Given the description of an element on the screen output the (x, y) to click on. 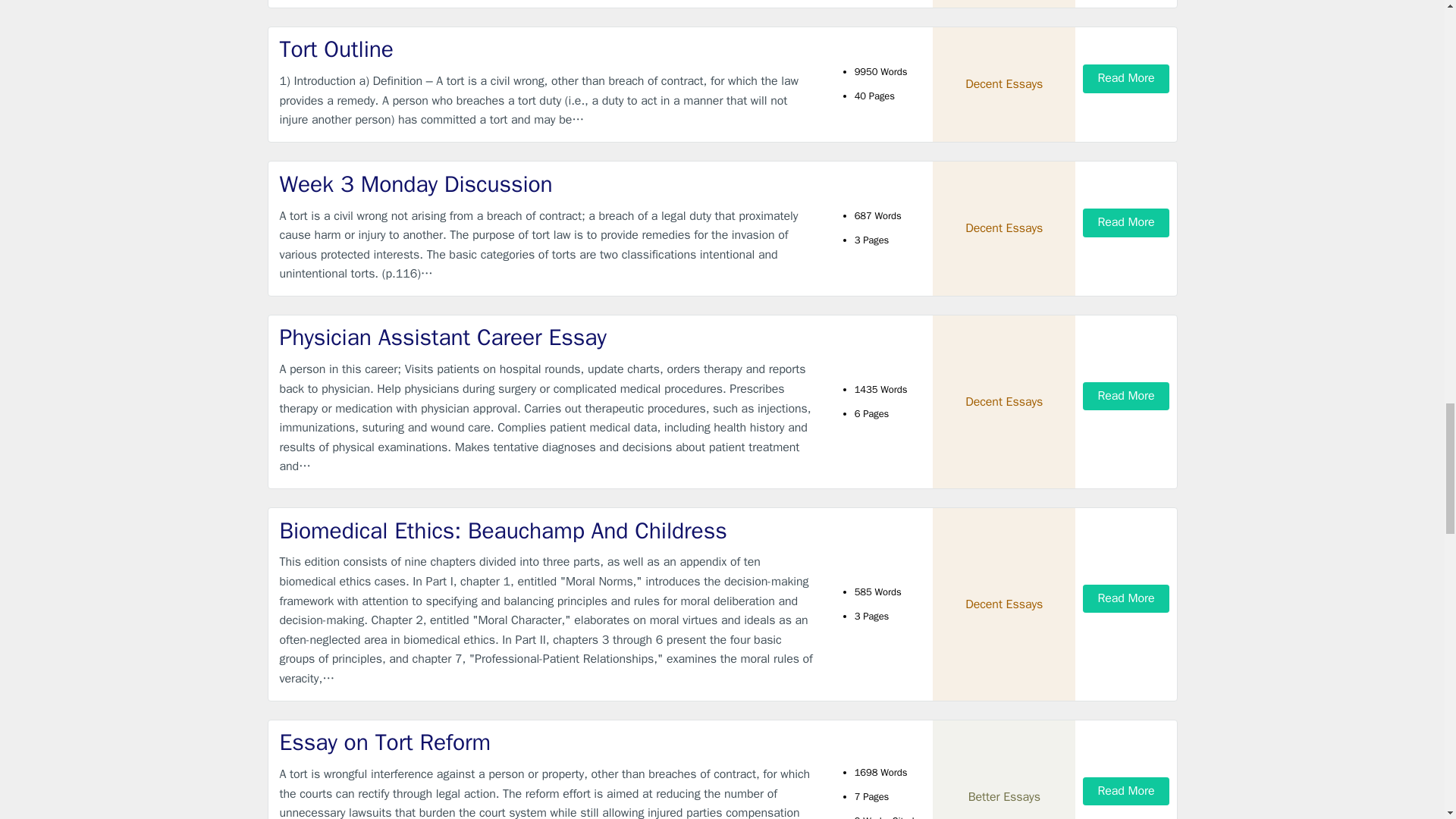
Tort Outline (548, 49)
Read More (1126, 222)
Read More (1126, 598)
Biomedical Ethics: Beauchamp And Childress (548, 531)
Read More (1126, 78)
Week 3 Monday Discussion (548, 183)
Read More (1126, 396)
Physician Assistant Career Essay (548, 337)
